Given the description of an element on the screen output the (x, y) to click on. 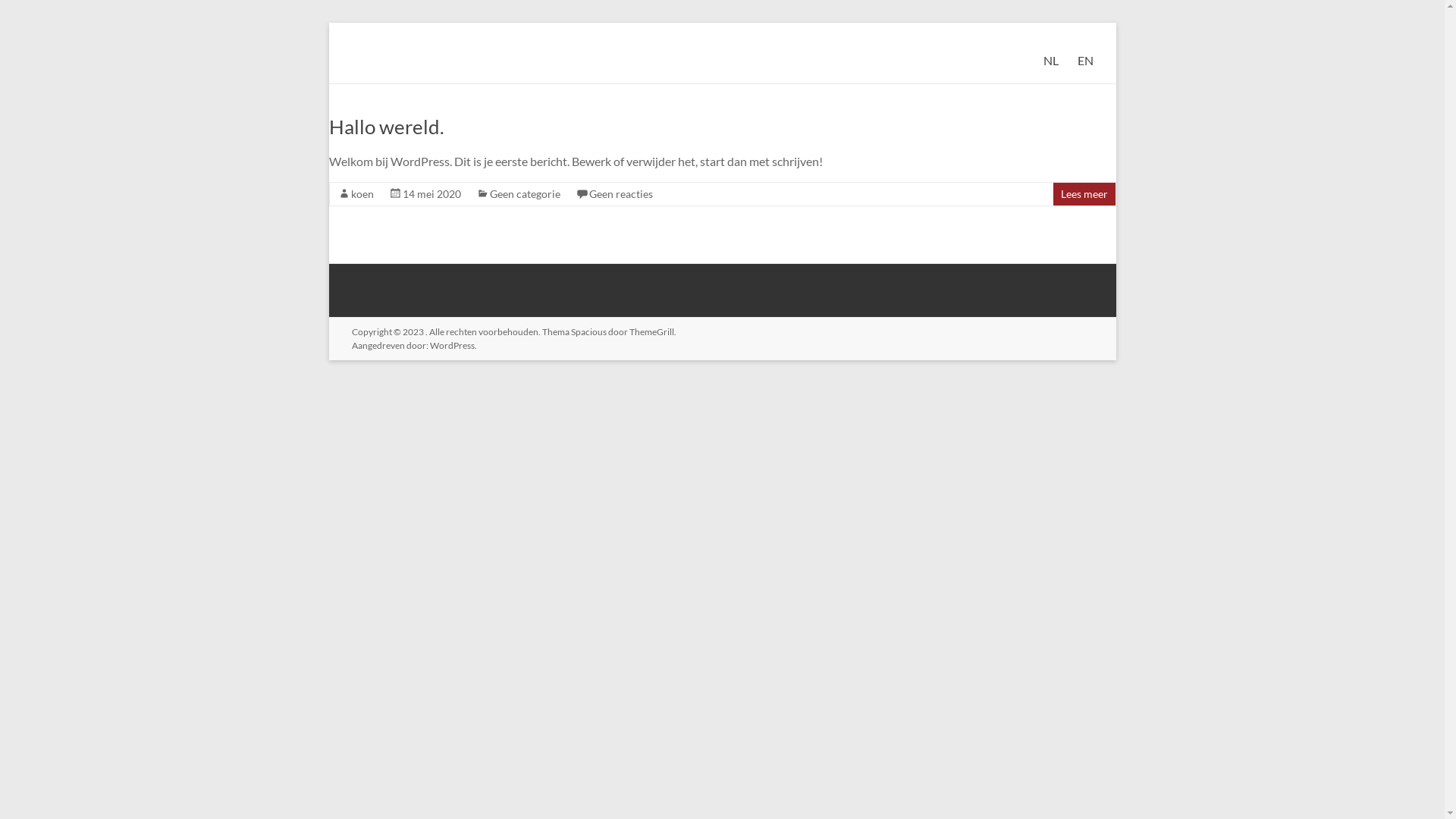
Geen reacties Element type: text (620, 193)
WordPress Element type: text (451, 345)
EN Element type: text (1084, 60)
NL Element type: text (1050, 60)
14 mei 2020 Element type: text (430, 193)
Ga naar de inhoud Element type: text (327, 21)
koen Element type: text (361, 193)
Spacious Element type: text (587, 331)
Lees meer Element type: text (1083, 193)
Geen categorie Element type: text (524, 193)
Hallo wereld. Element type: text (386, 126)
